Given the description of an element on the screen output the (x, y) to click on. 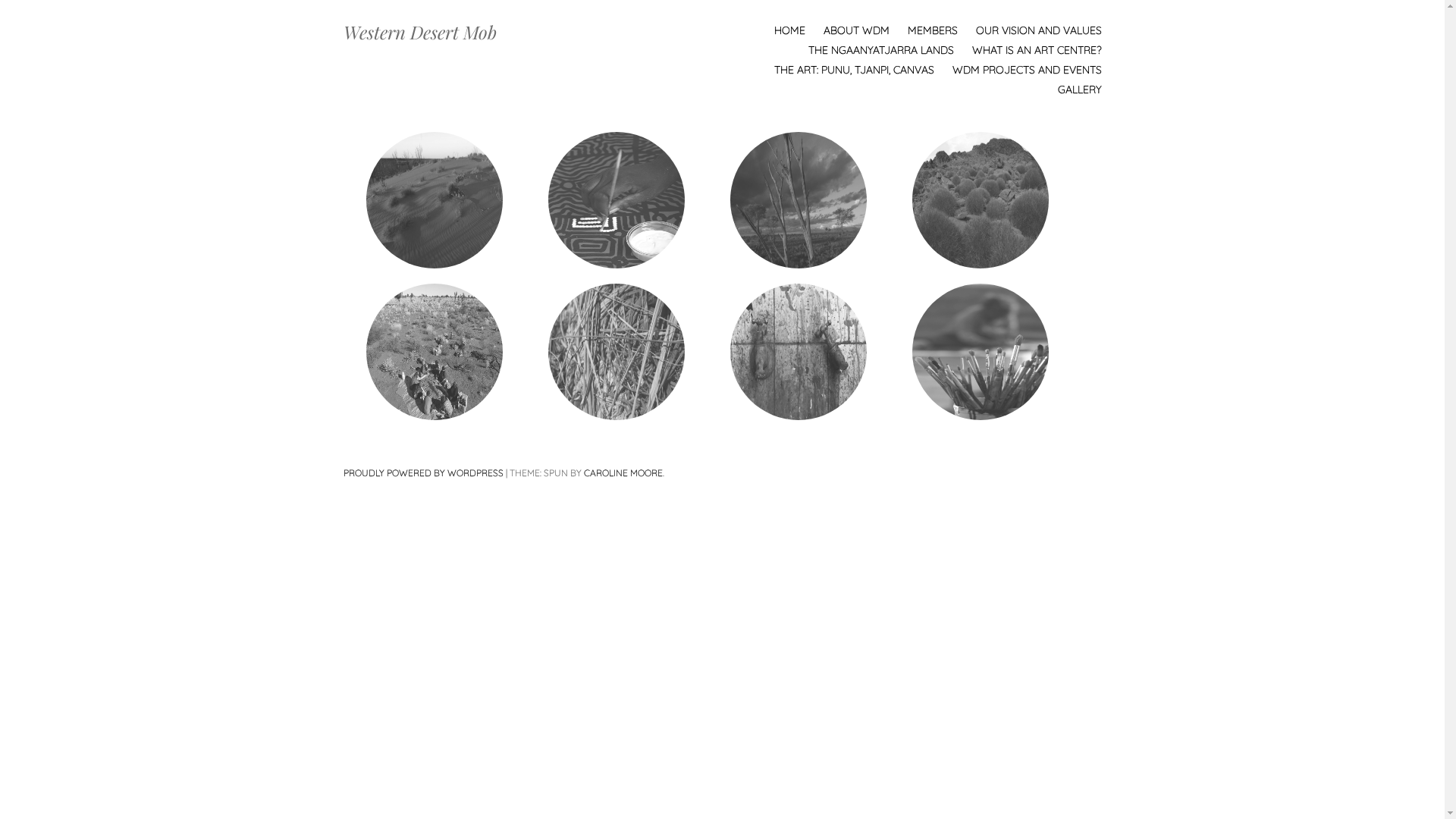
PROUDLY POWERED BY WORDPRESS Element type: text (422, 472)
OUR VISION AND VALUES Element type: text (1038, 30)
GALLERY Element type: text (1079, 89)
About WDM Element type: hover (433, 199)
THE ART: PUNU, TJANPI, CANVAS Element type: text (853, 70)
Gallery Element type: hover (979, 351)
What is an Art Centre? Element type: hover (433, 351)
WHAT IS AN ART CENTRE? Element type: text (1036, 50)
Our Vision and Values Element type: hover (797, 199)
HOME Element type: text (788, 30)
MEMBERS Element type: text (931, 30)
WDM Projects and Events Element type: hover (797, 351)
CAROLINE MOORE Element type: text (622, 472)
The Art: Punu, Tjanpi, Canvas Element type: hover (615, 351)
THE NGAANYATJARRA LANDS Element type: text (880, 50)
Western Desert Mob Element type: text (418, 31)
WDM PROJECTS AND EVENTS Element type: text (1026, 70)
Members Element type: hover (615, 199)
ABOUT WDM Element type: text (856, 30)
The Ngaanyatjarra Lands Element type: hover (979, 199)
